Given the description of an element on the screen output the (x, y) to click on. 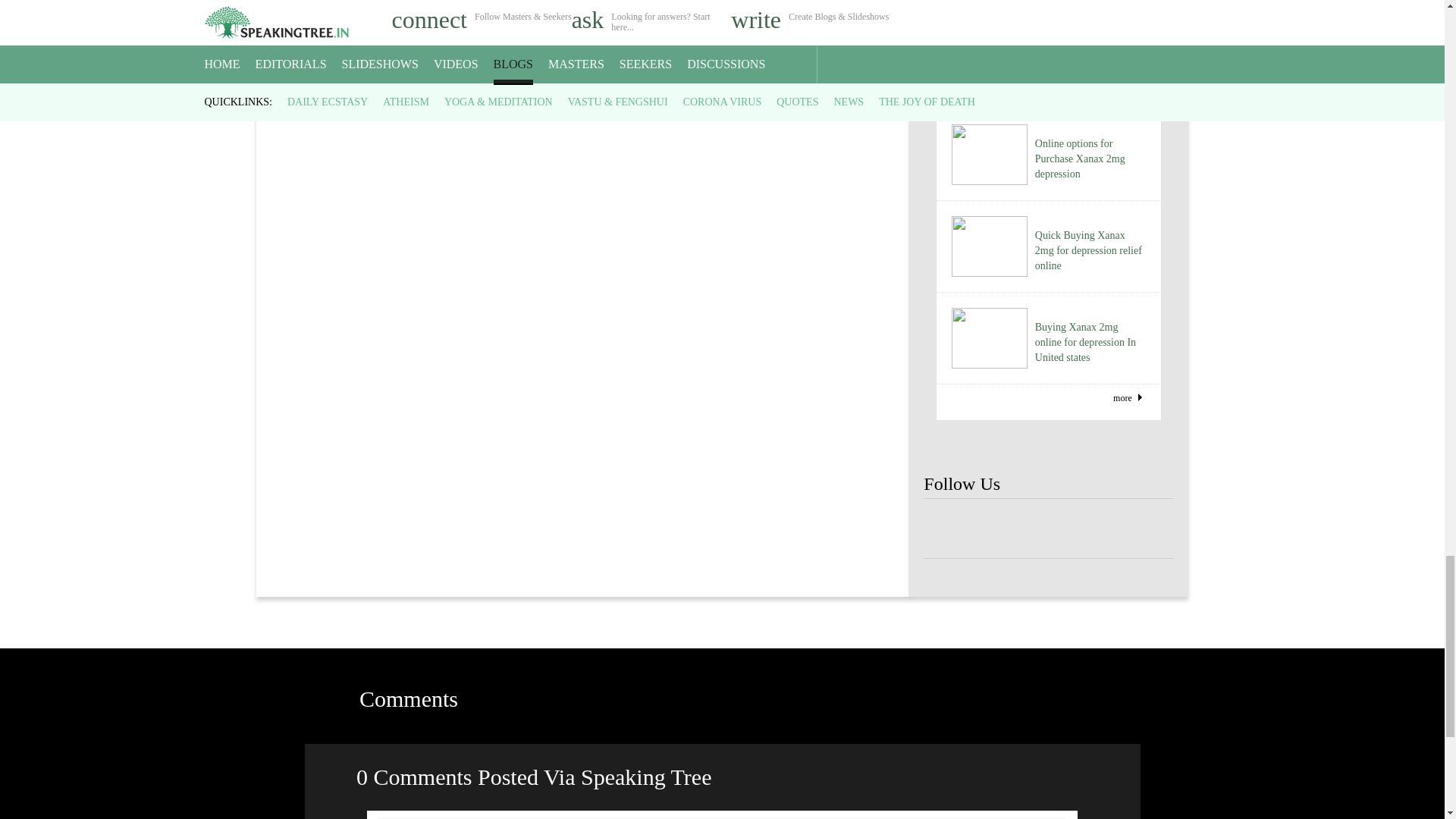
Speaking Tree FaceBook (1147, 529)
Speaking Tree FaceBook (998, 529)
Speaking Tree FaceBook (1048, 529)
Speaking Tree FaceBook (948, 529)
Speaking Tree FaceBook (1099, 529)
